Given the description of an element on the screen output the (x, y) to click on. 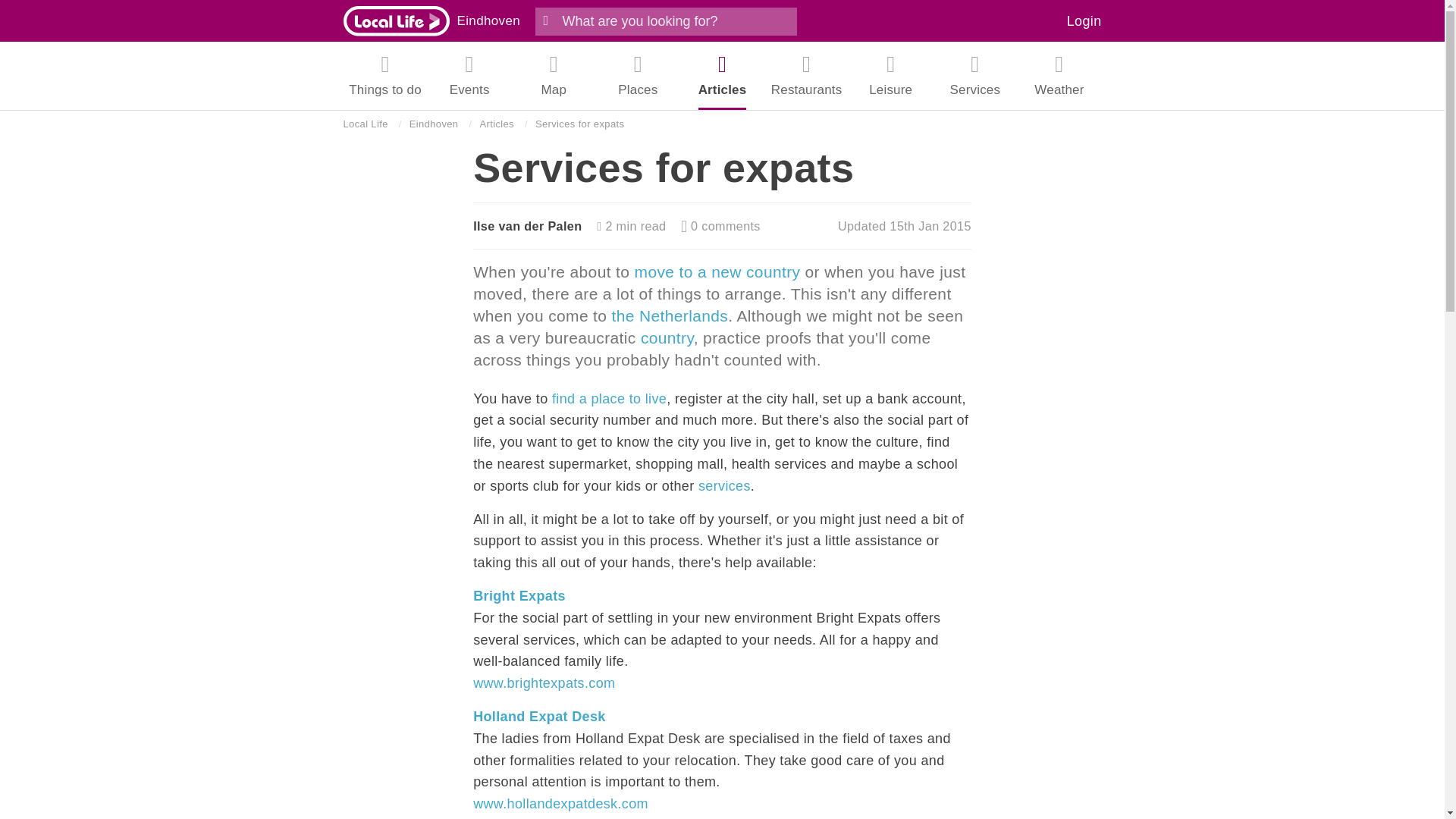
Eindhoven (488, 20)
the Netherlands (670, 315)
Bright Expats (519, 595)
find a place to live (608, 398)
www.brightexpats.com (543, 683)
Articles (496, 124)
move to a new country (717, 271)
0 comments (720, 225)
www.hollandexpatdesk.com (560, 803)
services (724, 485)
